Given the description of an element on the screen output the (x, y) to click on. 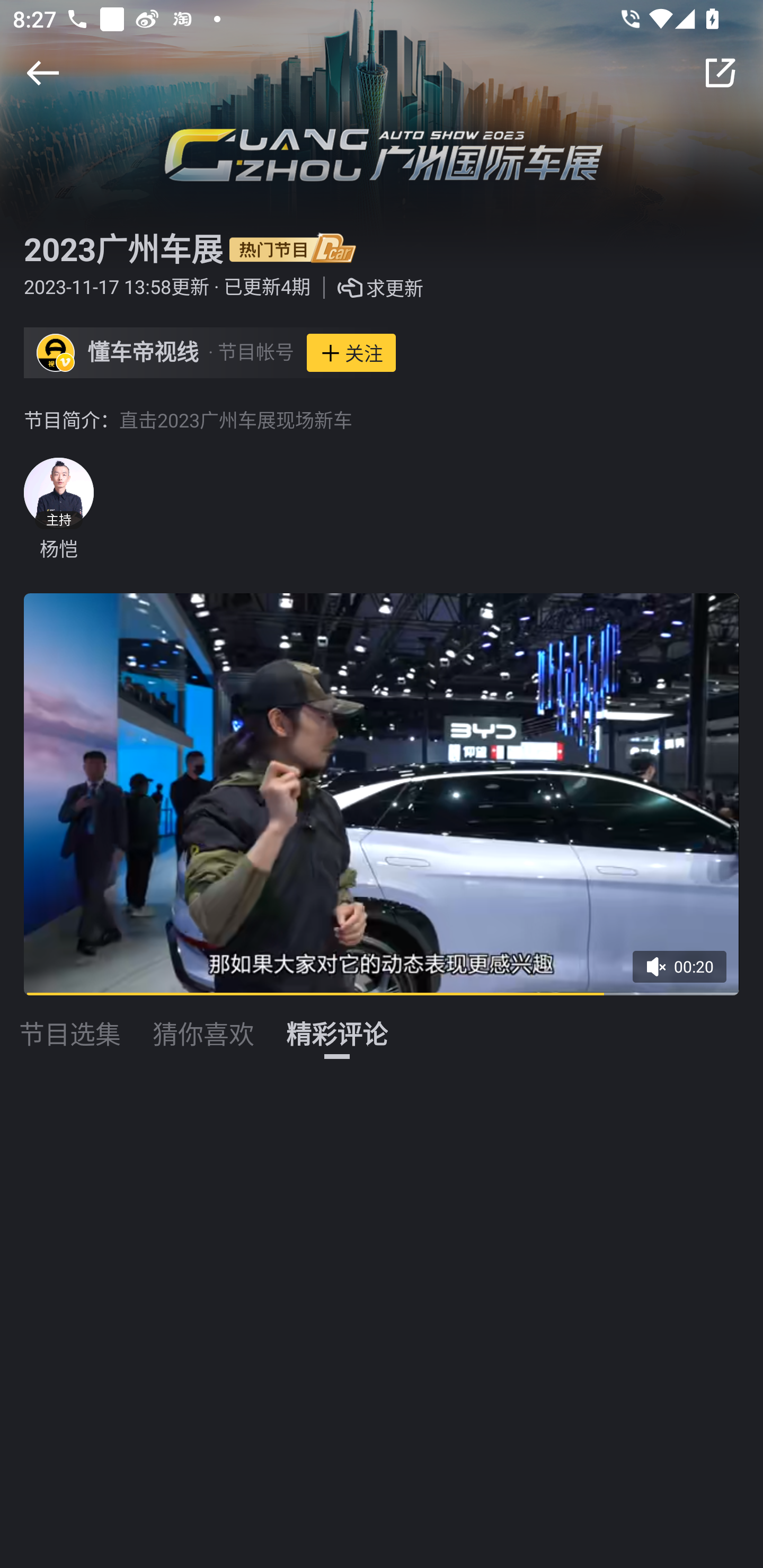
 (42, 72)
 (720, 72)
 求更新 (366, 287)
懂车帝视线 (142, 352)
· 节目帐号 (250, 352)
 关注 (350, 352)
主持 杨恺 (58, 509)
81.0 00:20 (381, 793)
00:20 (685, 972)
节目选集 (69, 1022)
猜你喜欢 (203, 1022)
精彩评论 (336, 1022)
